Given the description of an element on the screen output the (x, y) to click on. 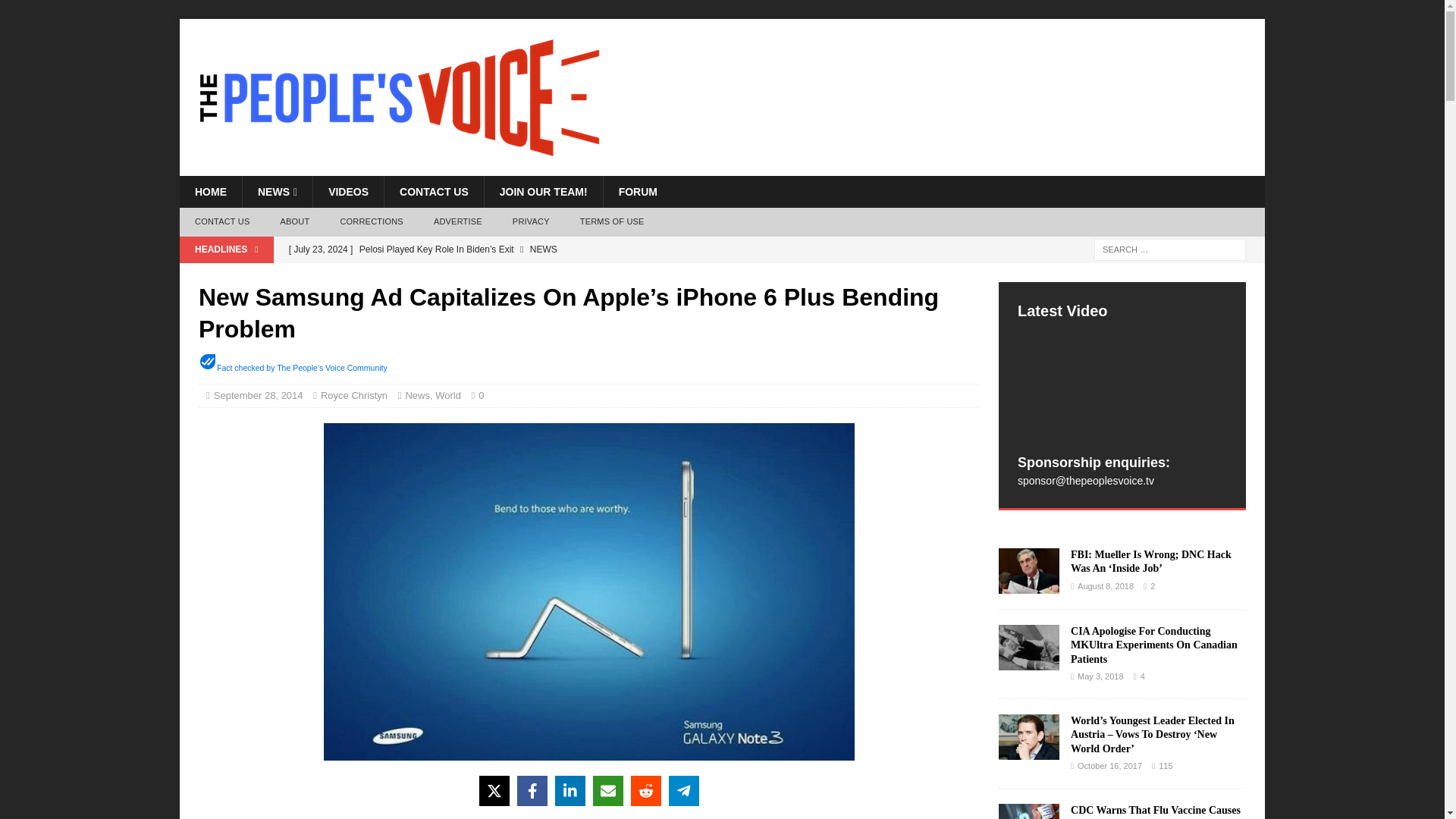
NEWS (277, 192)
JOIN OUR TEAM! (542, 192)
ADVERTISE (458, 222)
CONTACT US (221, 222)
ABOUT (294, 222)
FORUM (637, 192)
HOME (210, 192)
PRIVACY (530, 222)
TERMS OF USE (611, 222)
VIDEOS (348, 192)
CONTACT US (433, 192)
CORRECTIONS (370, 222)
